Given the description of an element on the screen output the (x, y) to click on. 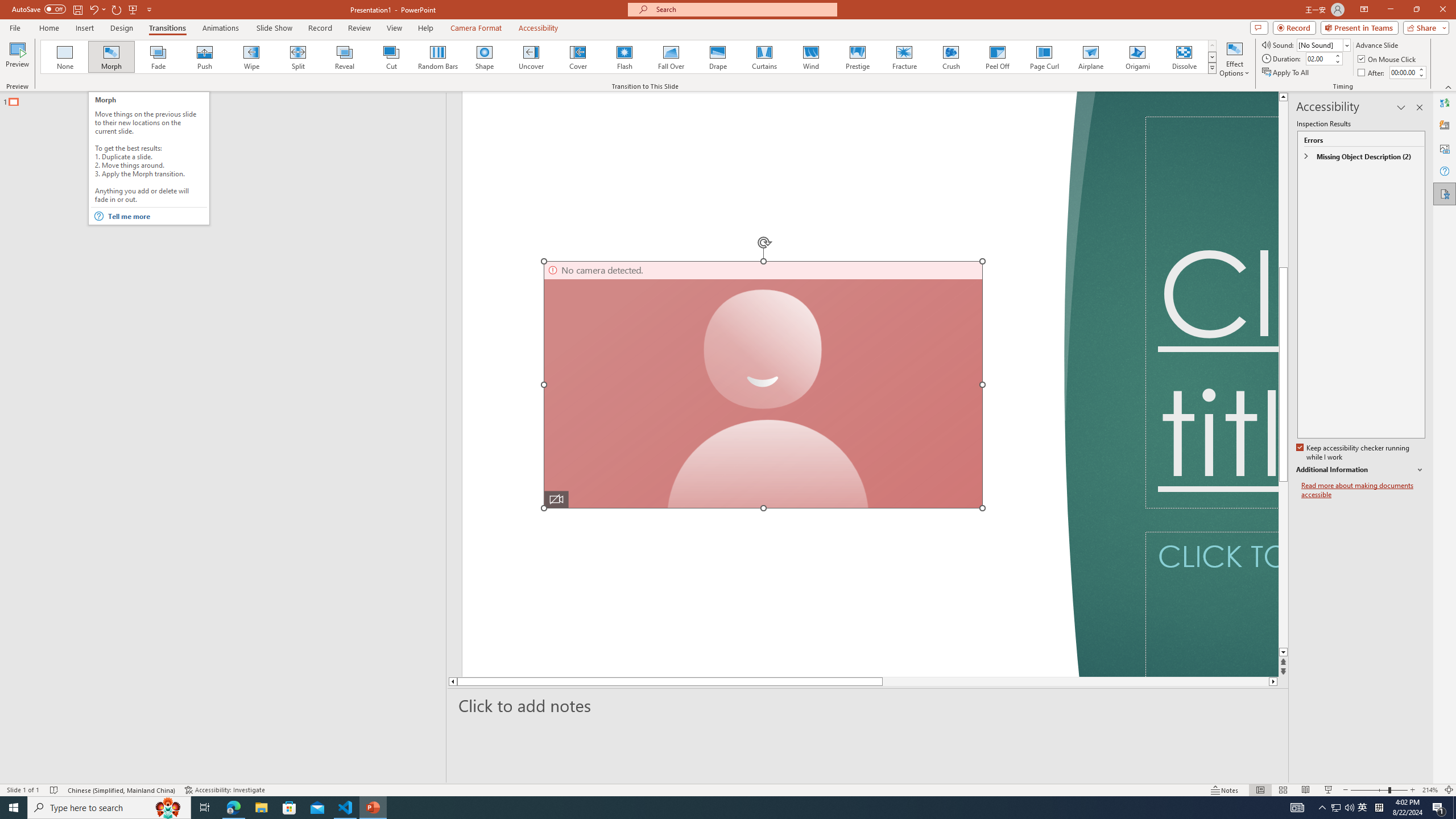
Tell me more (156, 216)
